Given the description of an element on the screen output the (x, y) to click on. 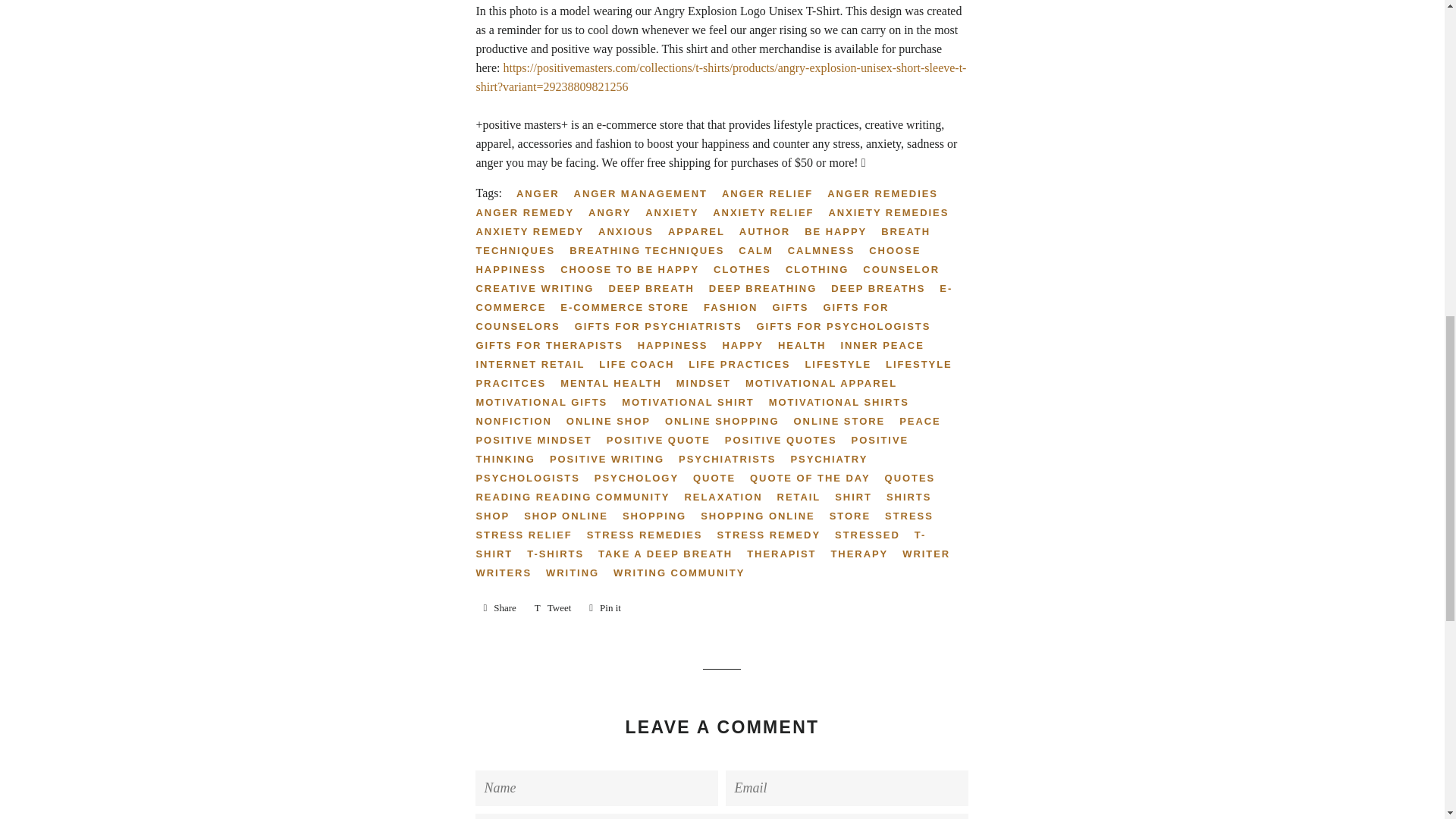
Share on Facebook (499, 608)
ANGER REMEDIES (888, 193)
ANXIETY REMEDY (535, 231)
BE HAPPY (841, 231)
APPAREL (702, 231)
ANGRY (615, 212)
ANXIETY RELIEF (769, 212)
AUTHOR (770, 231)
Angry Explosion Logo Unisex T-Shirts (721, 77)
ANXIETY REMEDIES (894, 212)
ANGER REMEDY (530, 212)
BREATH TECHNIQUES (703, 240)
Pin on Pinterest (604, 608)
ANXIETY (677, 212)
Tweet on Twitter (553, 608)
